Given the description of an element on the screen output the (x, y) to click on. 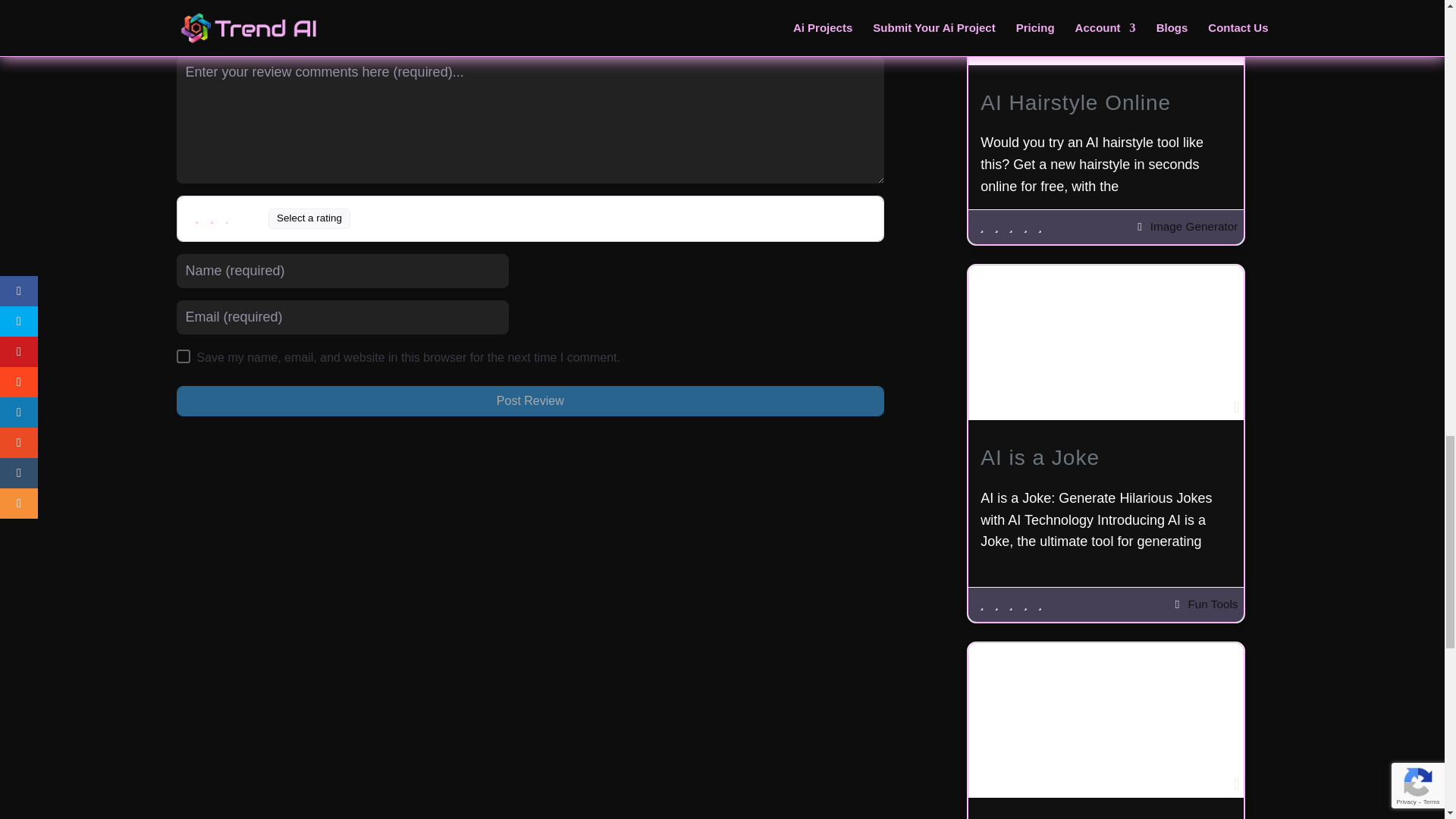
View: AI Hairstyle Online (1074, 102)
Post Review (529, 400)
yes (182, 356)
... read more (1160, 186)
Terrible (197, 217)
AI Hairstyle Online (1074, 102)
Excellent (257, 217)
Poor (212, 217)
Very Good (242, 217)
Average (226, 217)
